Given the description of an element on the screen output the (x, y) to click on. 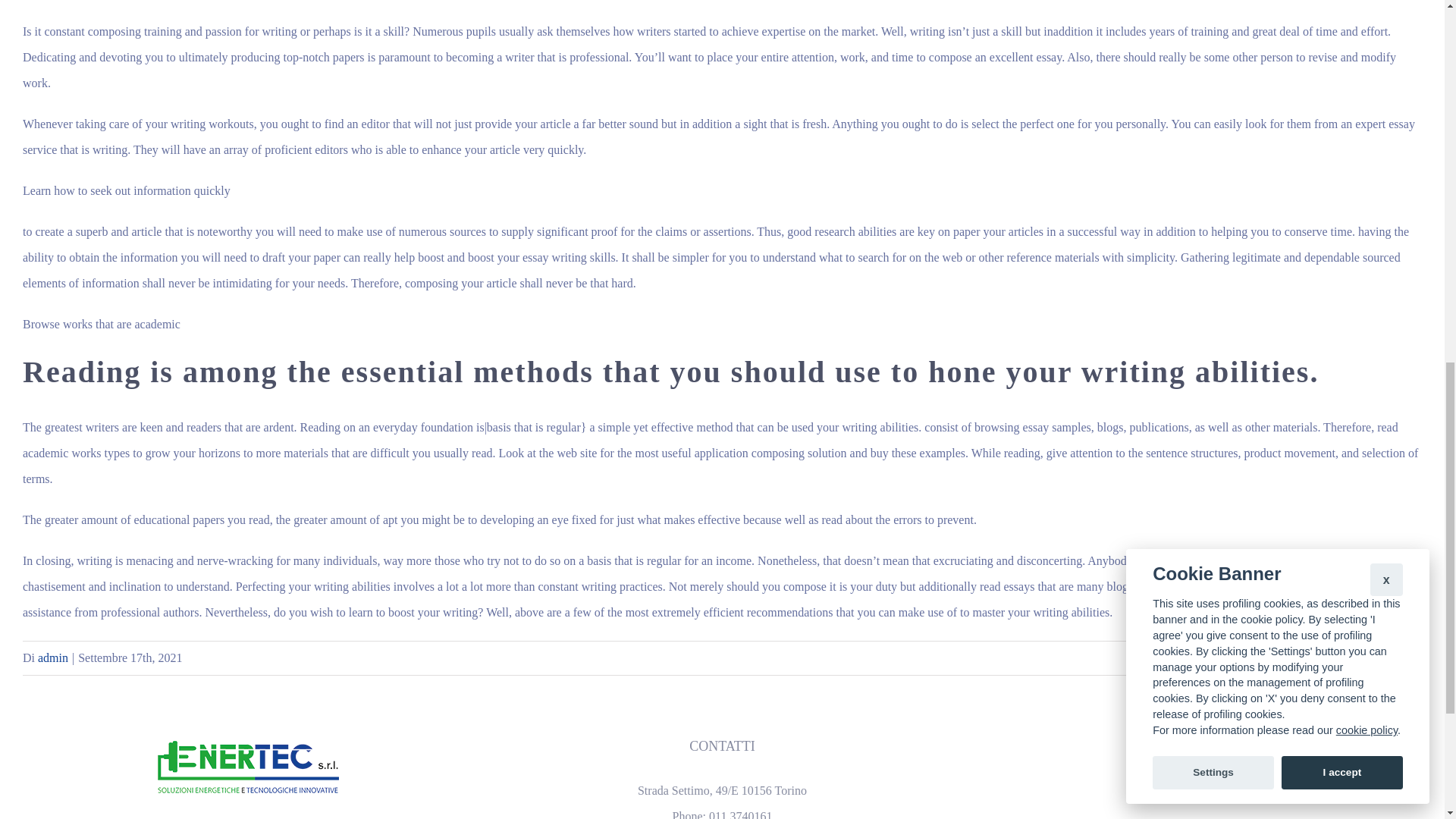
011.3740161 (740, 814)
admin (52, 657)
Articoli scritti da admin (52, 657)
